Given the description of an element on the screen output the (x, y) to click on. 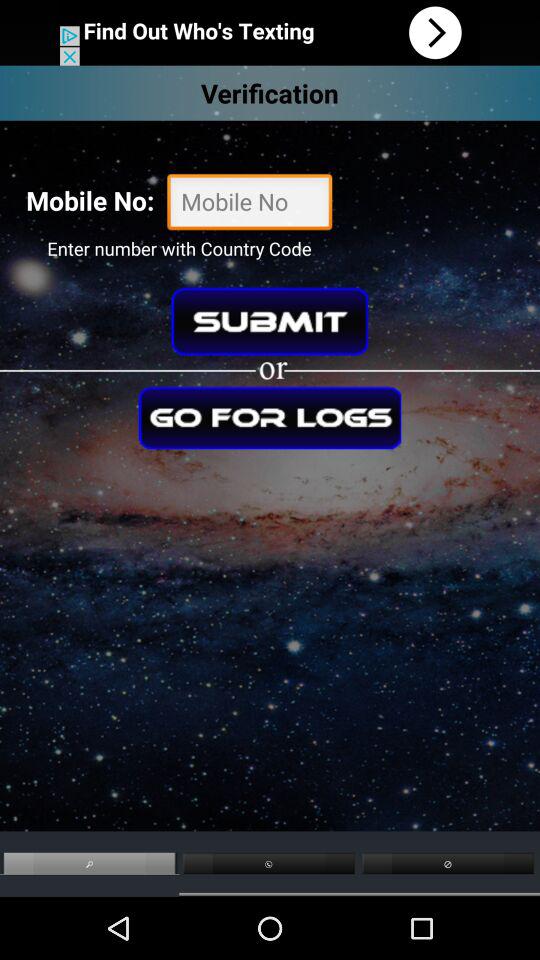
go for logs (269, 417)
